Given the description of an element on the screen output the (x, y) to click on. 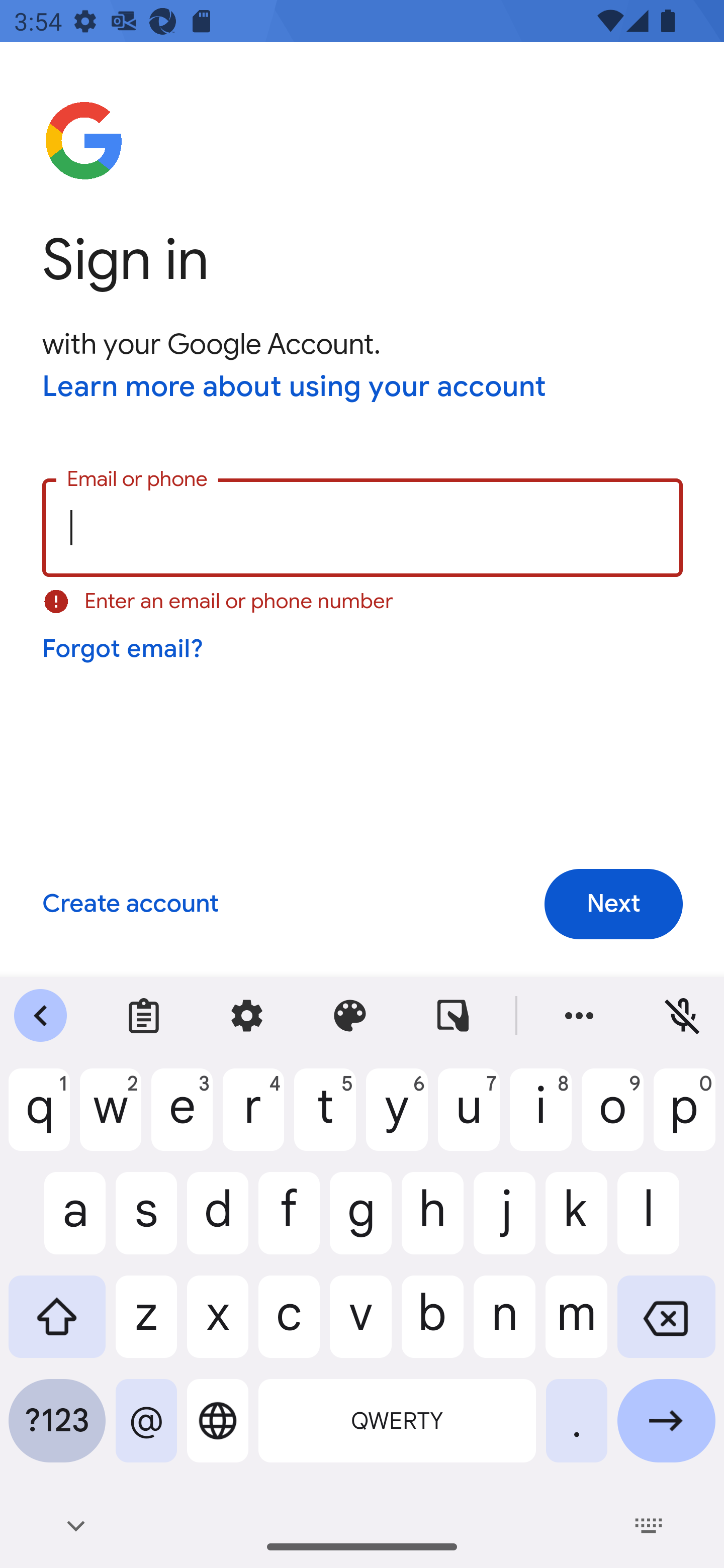
Learn more about using your account (294, 388)
Forgot email? (123, 648)
Next (613, 903)
Create account (129, 904)
